Given the description of an element on the screen output the (x, y) to click on. 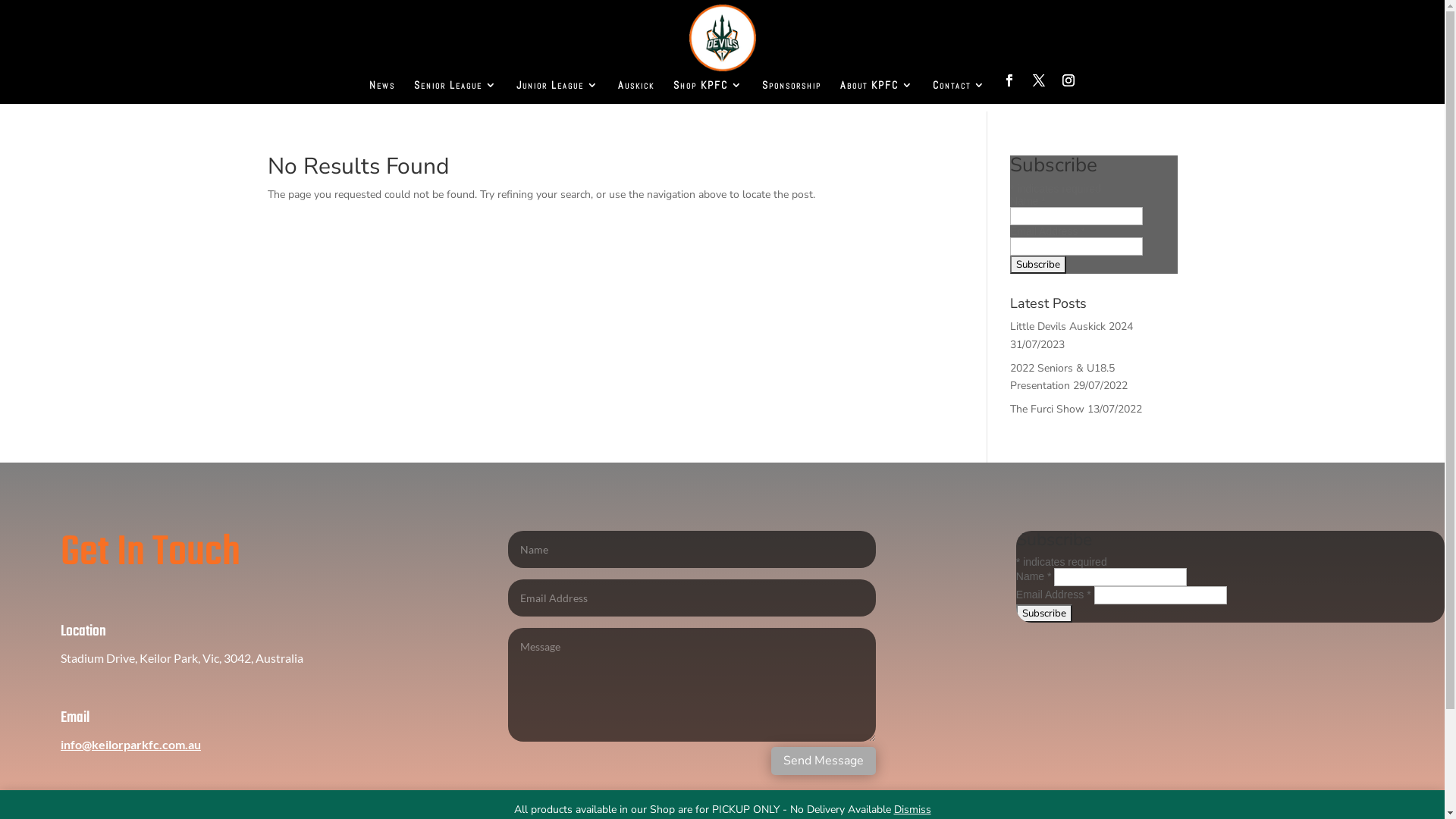
Subscribe Element type: text (1038, 264)
Send Message Element type: text (823, 760)
Subscribe Element type: text (1044, 613)
News Element type: text (381, 91)
2022 Seniors & U18.5 Presentation Element type: text (1062, 376)
About KPFC Element type: text (876, 91)
Auskick Element type: text (635, 91)
info@keilorparkfc.com.au Element type: text (130, 744)
Shop KPFC Element type: text (708, 91)
The Furci Show Element type: text (1047, 408)
Sponsorship Element type: text (790, 91)
Dismiss Element type: text (911, 809)
Junior League Element type: text (556, 91)
Little Devils Auskick 2024 Element type: text (1071, 326)
Contact Element type: text (958, 91)
Senior League Element type: text (455, 91)
